Given the description of an element on the screen output the (x, y) to click on. 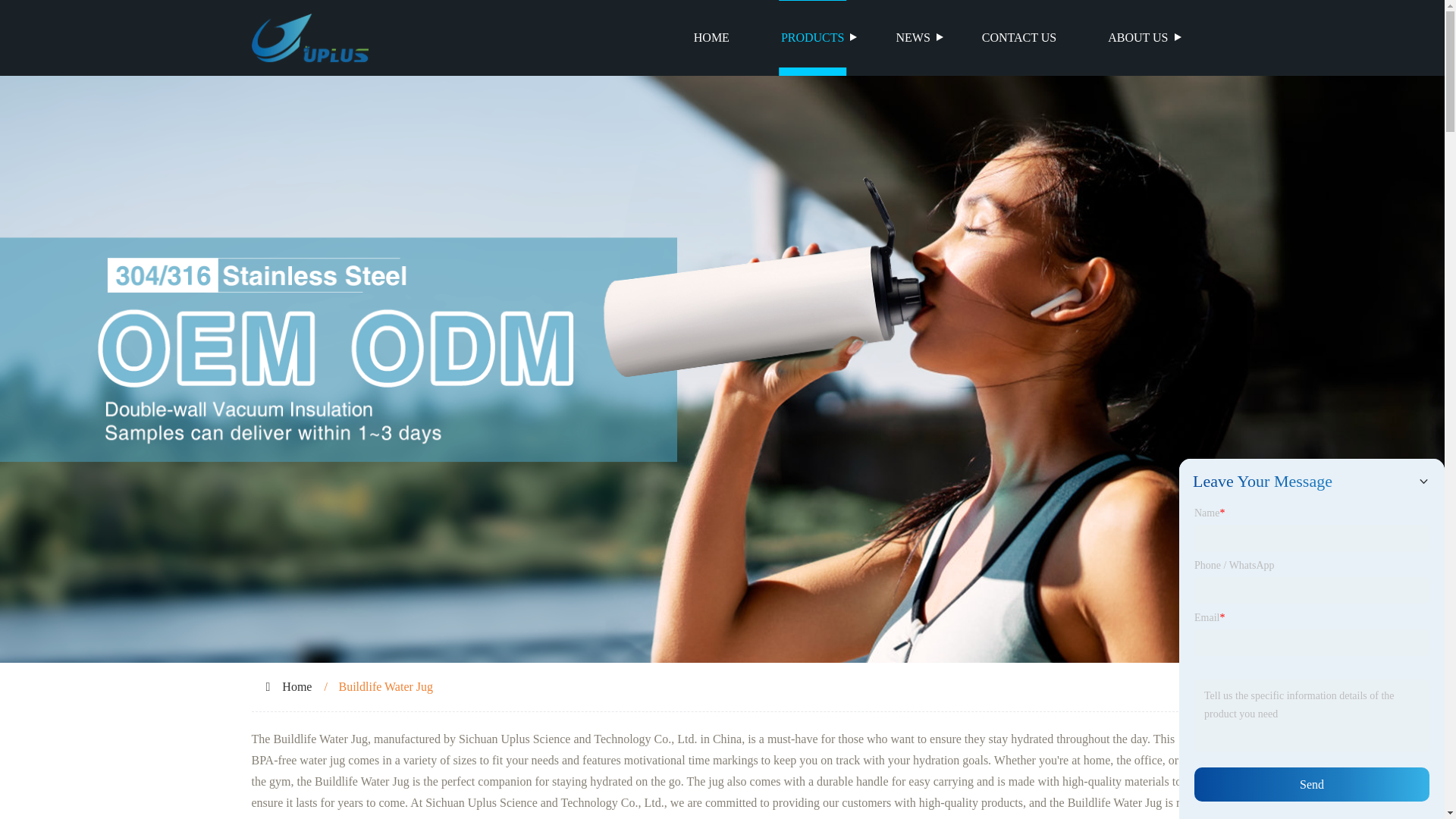
PRODUCTS (812, 38)
CONTACT US (1018, 38)
Home (296, 686)
